Given the description of an element on the screen output the (x, y) to click on. 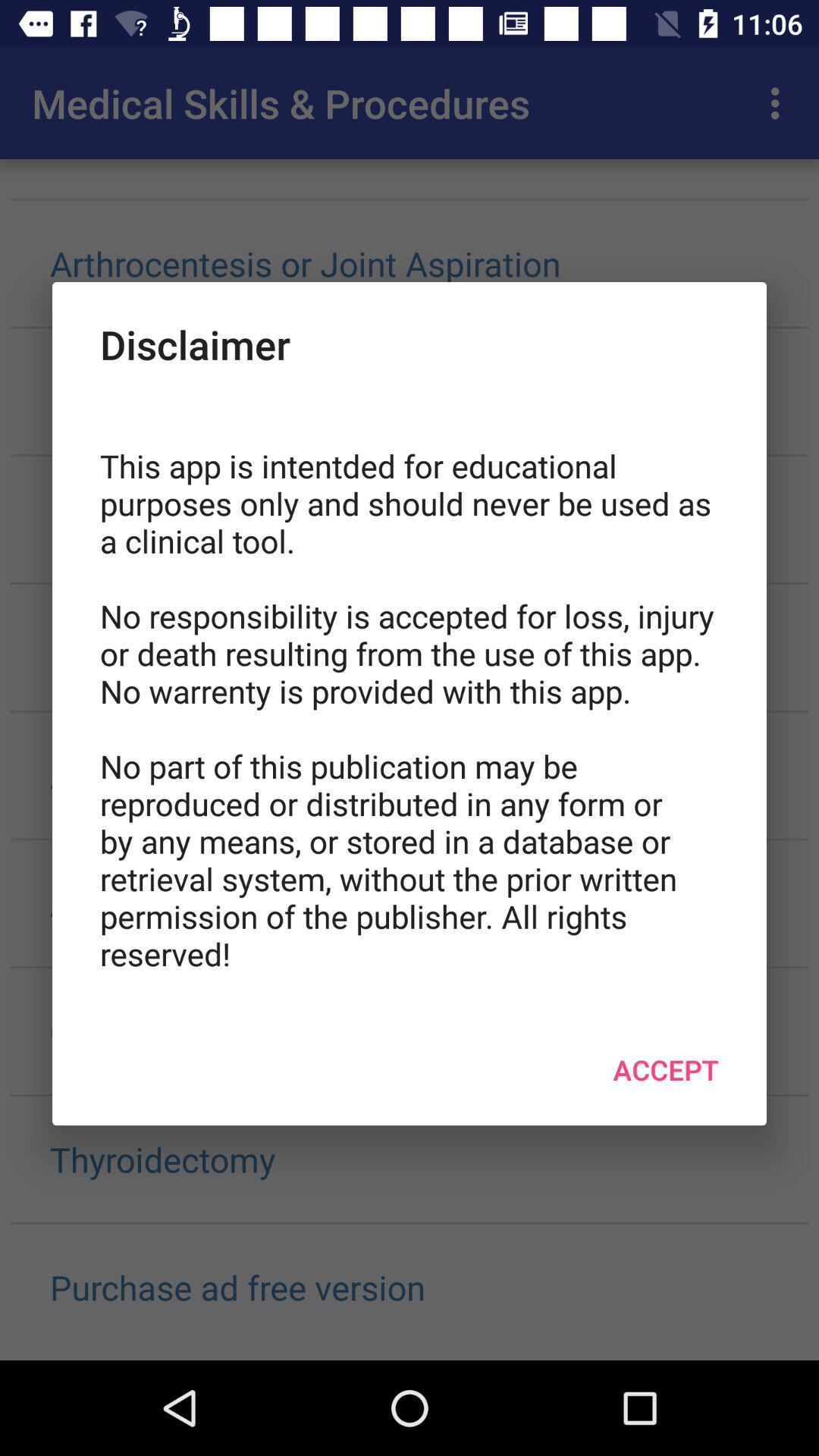
turn on item at the bottom right corner (665, 1069)
